Given the description of an element on the screen output the (x, y) to click on. 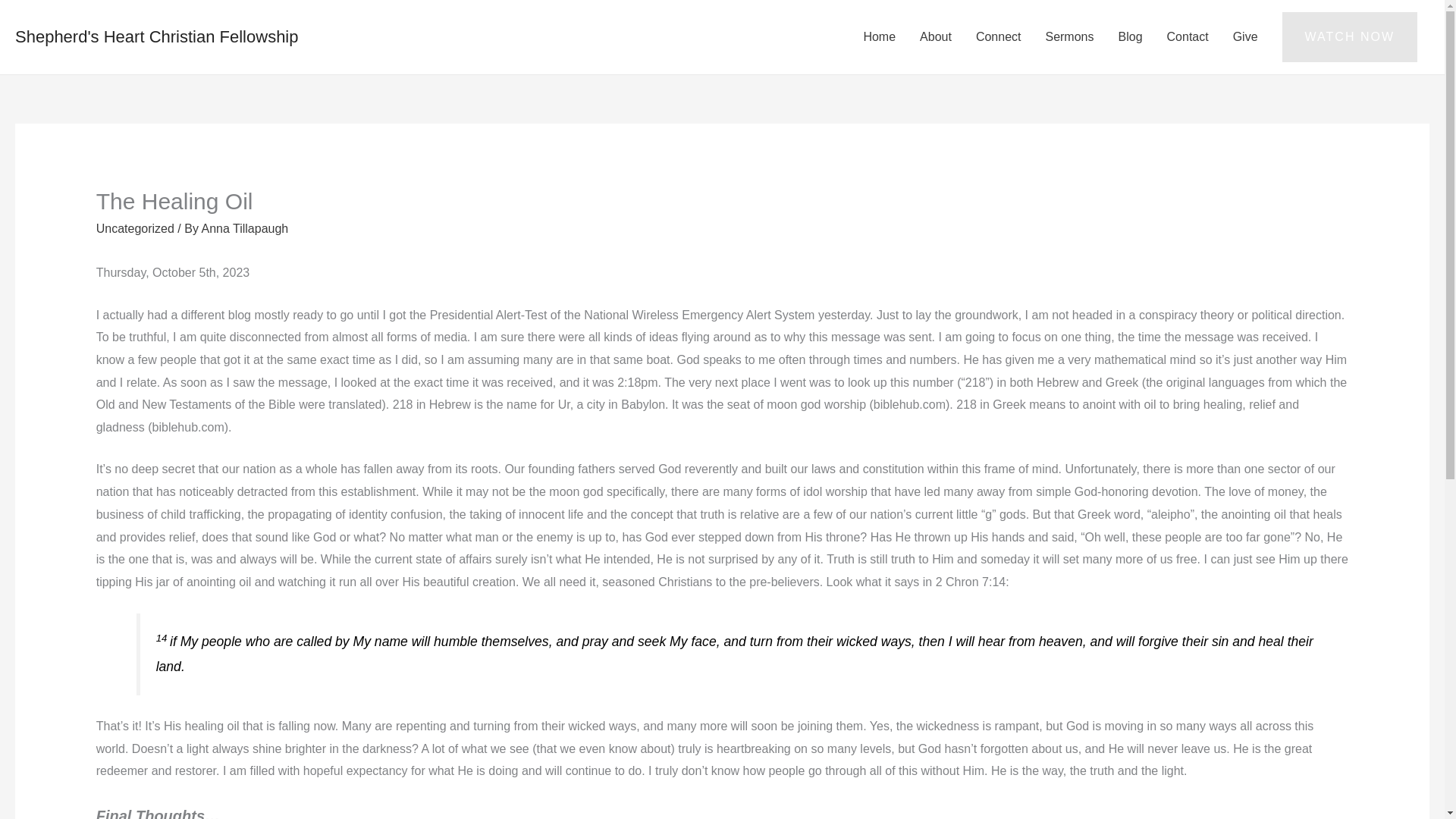
View all posts by Anna Tillapaugh (244, 228)
Sermons (1068, 37)
Uncategorized (135, 228)
Anna Tillapaugh (244, 228)
Give (1245, 37)
Shepherd's Heart Christian Fellowship (156, 36)
WATCH NOW (1349, 37)
Connect (998, 37)
Contact (1187, 37)
About (935, 37)
Blog (1129, 37)
Home (878, 37)
